Given the description of an element on the screen output the (x, y) to click on. 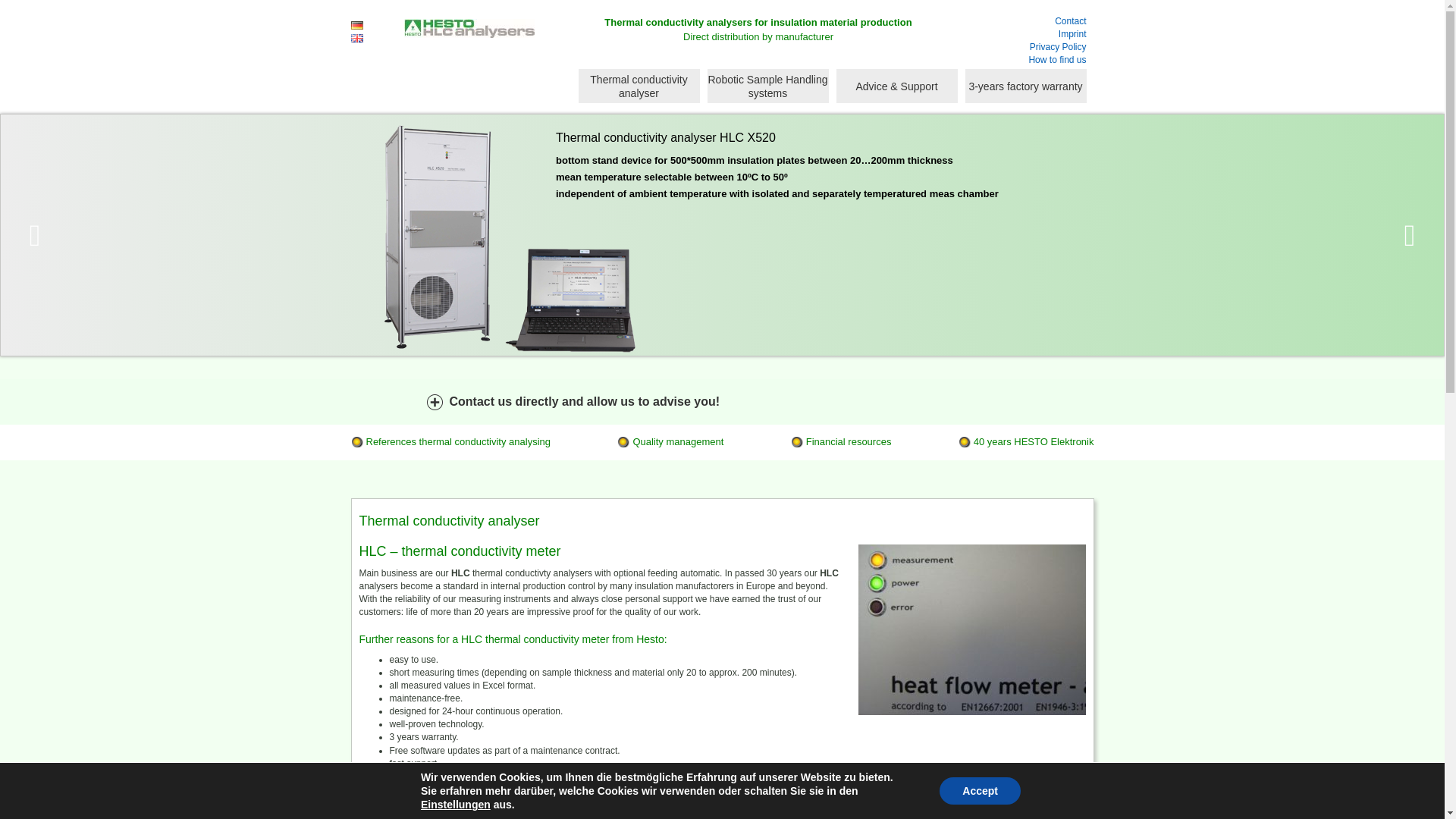
How to find us (1012, 60)
References thermal conductivity analysing (450, 441)
Thermal conductivity analyser (638, 85)
en.hesto.de (468, 42)
Accept (979, 790)
apparathus (715, 811)
Privacy Policy (1012, 47)
Submit (850, 478)
3-years factory warranty (1024, 85)
Robotic Sample Handling systems (767, 85)
Imprint (1012, 33)
40 years HESTO Elektronik (1026, 441)
Financial resources (840, 441)
Contact (1012, 21)
Quality management (670, 441)
